Given the description of an element on the screen output the (x, y) to click on. 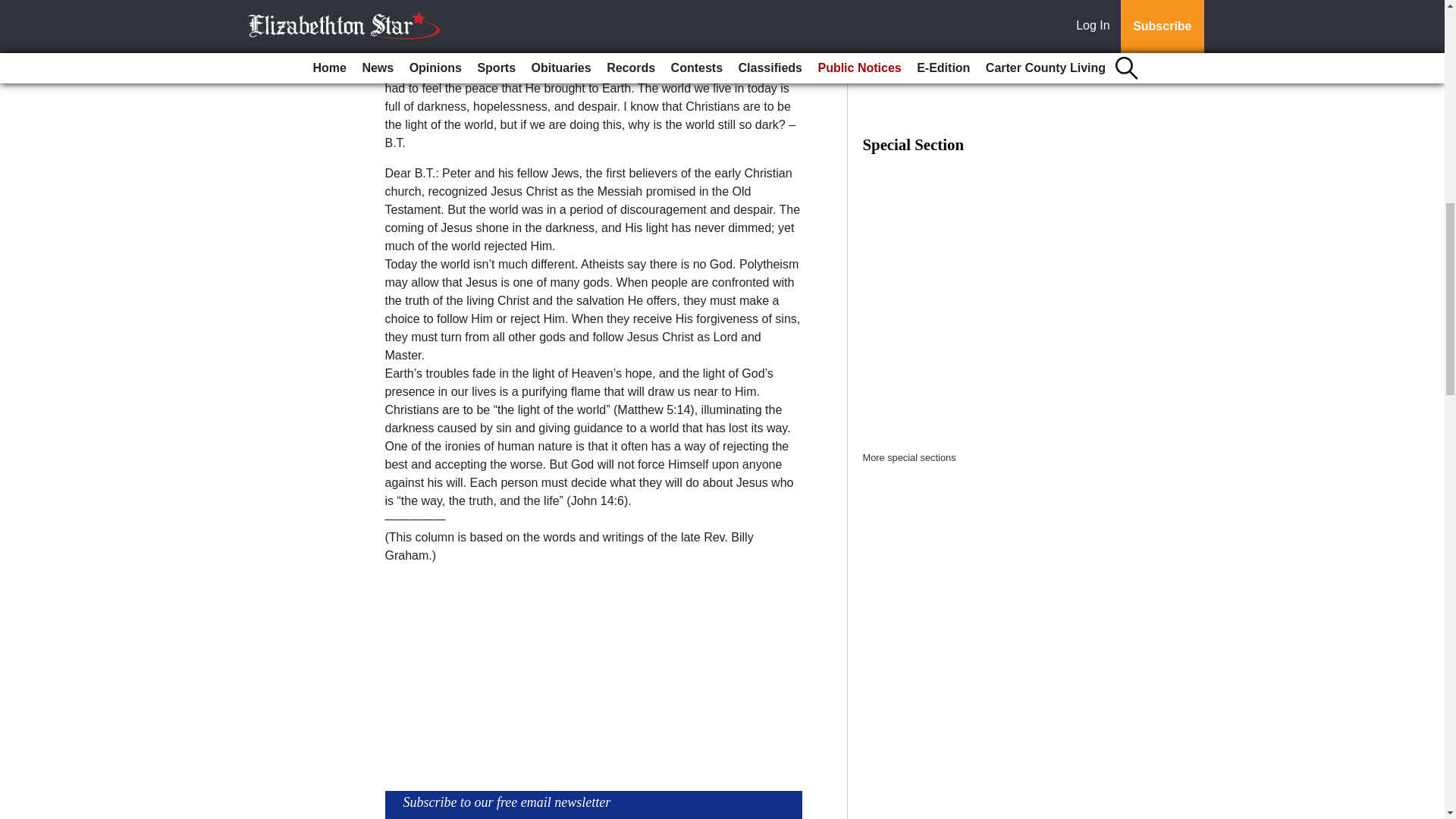
More special sections (909, 457)
